Given the description of an element on the screen output the (x, y) to click on. 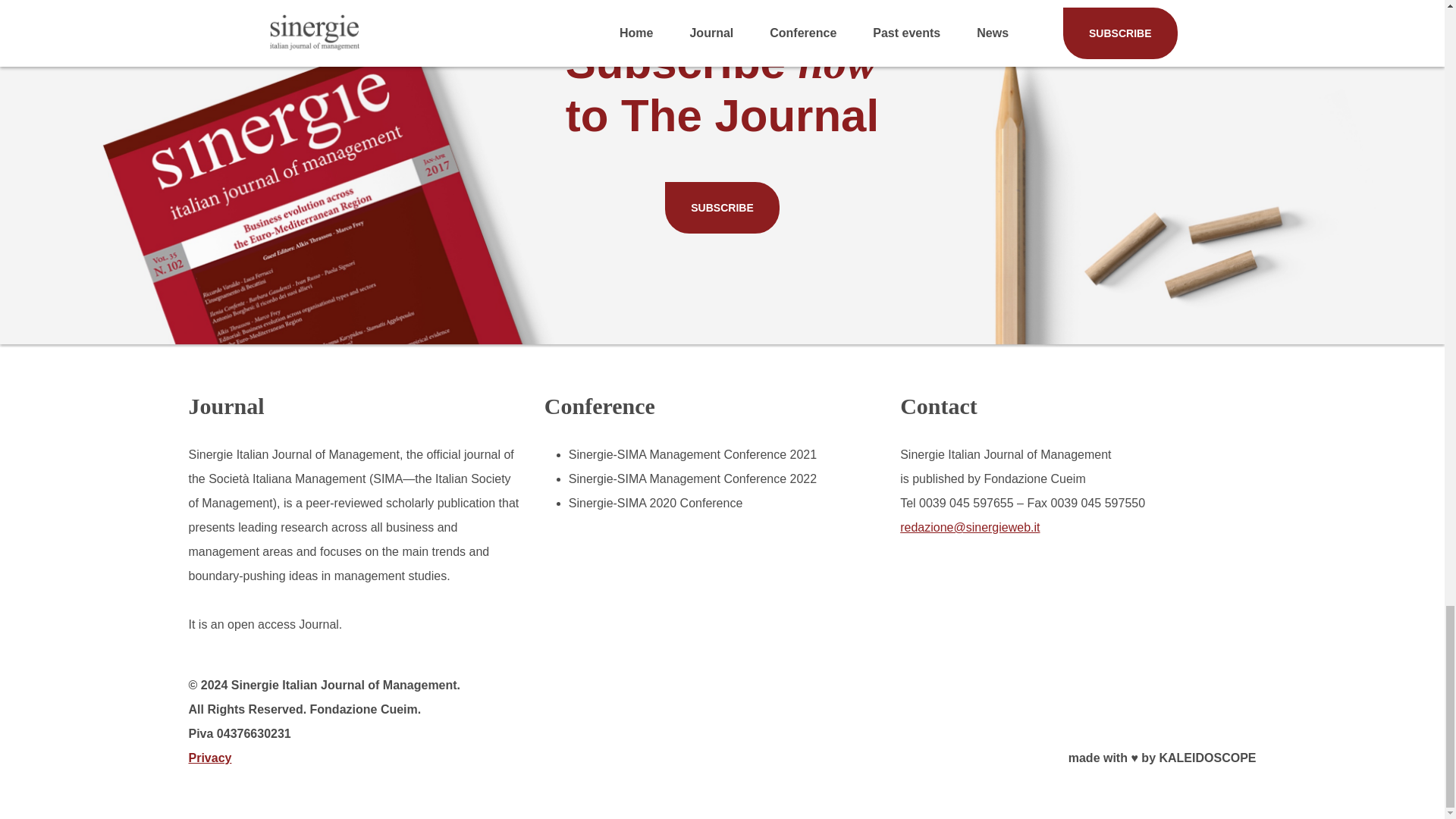
Sinergie-SIMA 2020 Conference (655, 502)
SUBSCRIBE (721, 207)
Sinergie-SIMA Management Conference 2022 (692, 478)
Sinergie-SIMA Management Conference 2021 (692, 454)
